Given the description of an element on the screen output the (x, y) to click on. 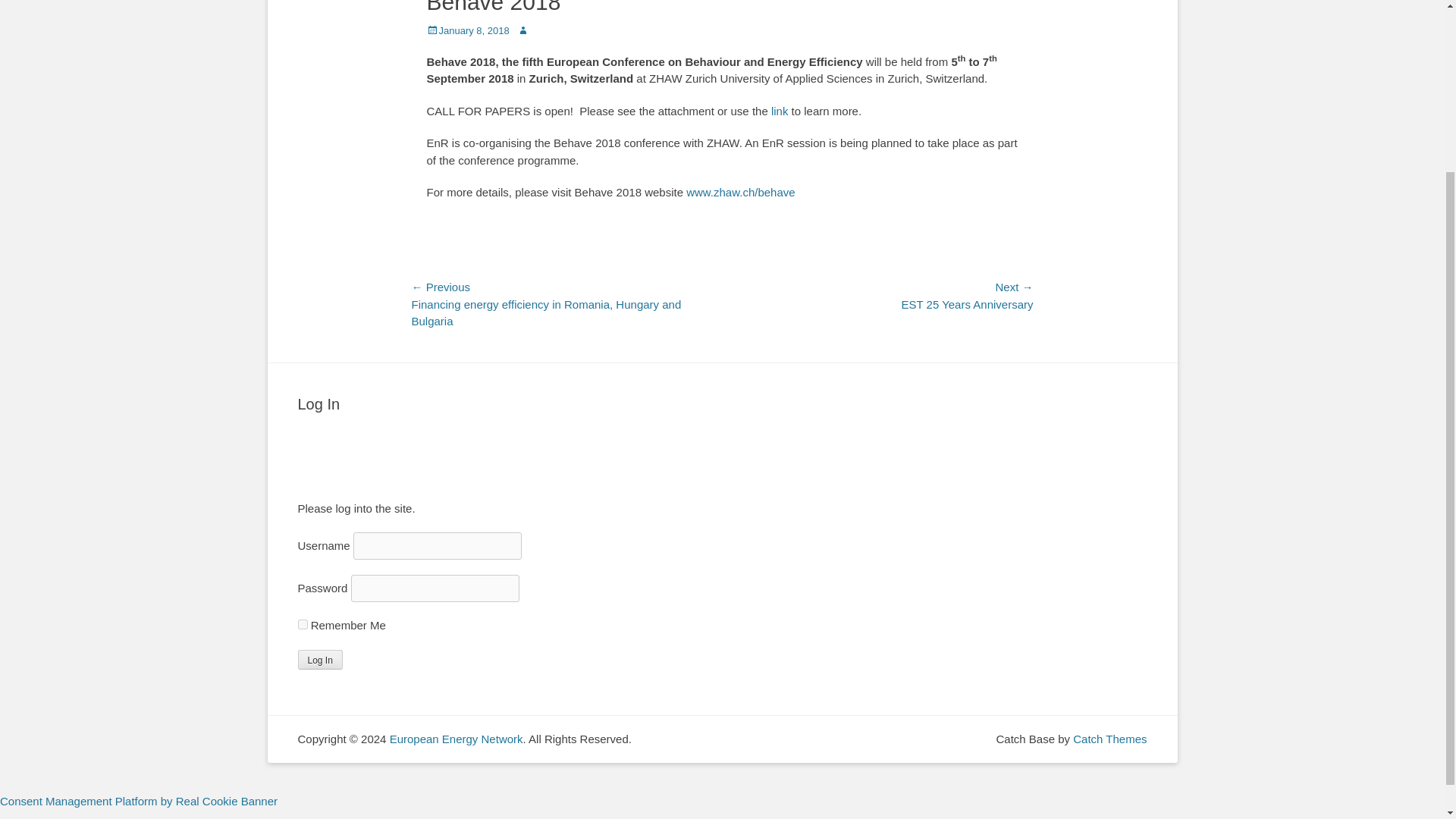
forever (302, 624)
Log In (319, 659)
